Given the description of an element on the screen output the (x, y) to click on. 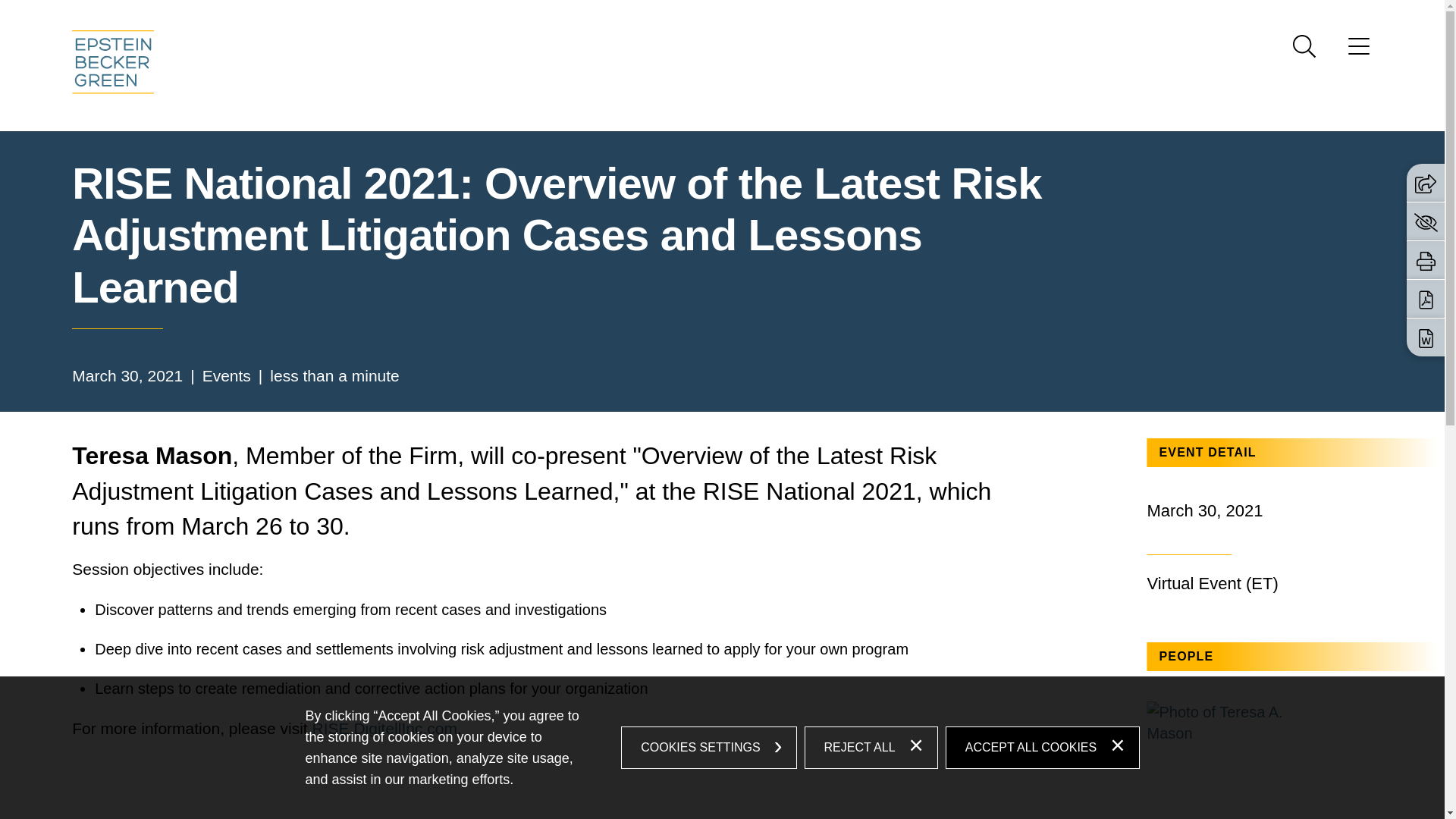
Main Content (666, 15)
Main Menu (673, 15)
Share (1425, 182)
Menu (1359, 51)
Print (1425, 261)
Go to the privacy settings (1425, 221)
Share (1425, 183)
Search (1304, 46)
Menu (673, 15)
